Given the description of an element on the screen output the (x, y) to click on. 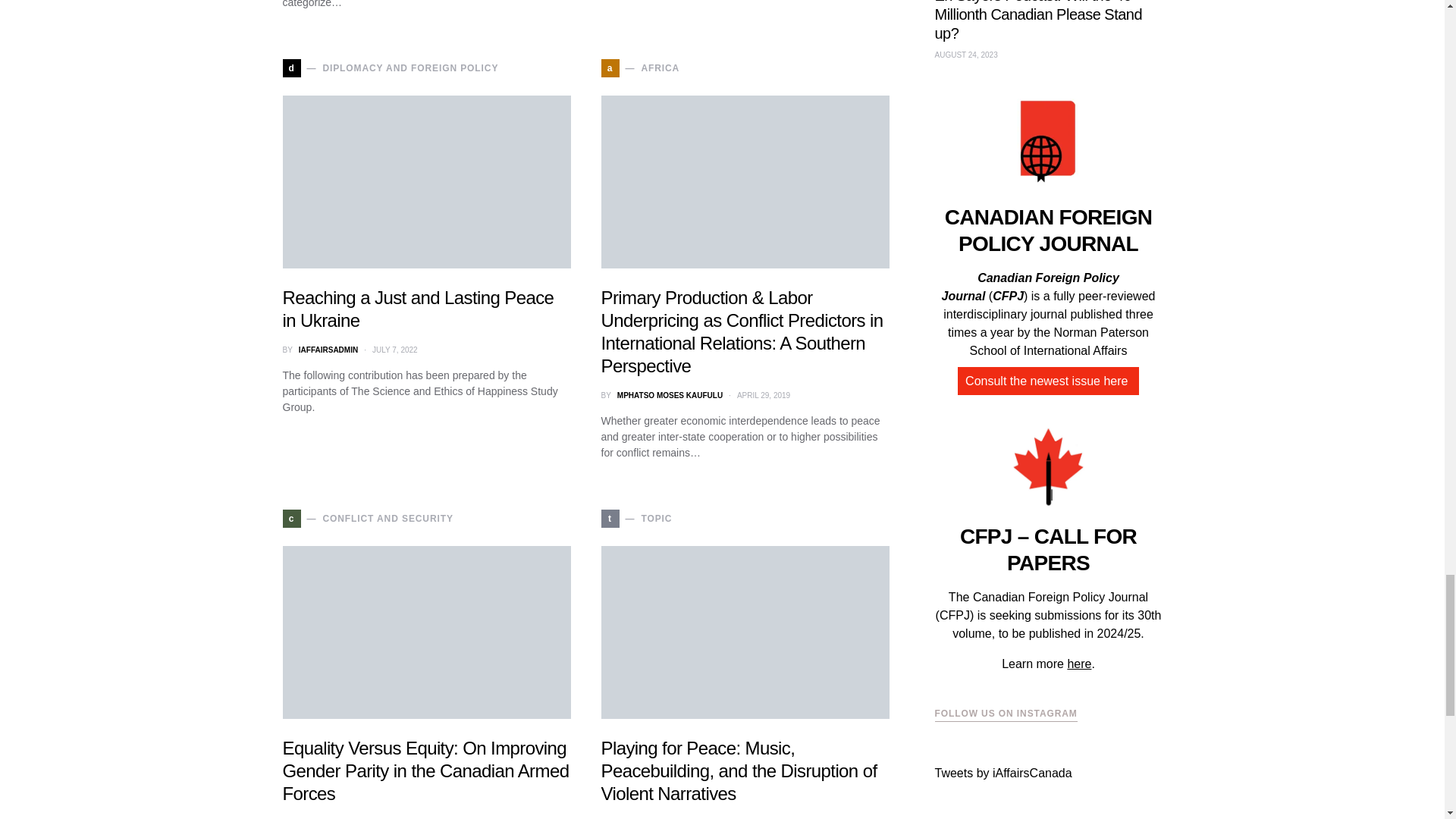
View all posts by Kiran Heble (642, 818)
View all posts by iAffairsAdmin (328, 349)
View all posts by Chloe Dizon (324, 818)
View all posts by Mphatso Moses Kaufulu (669, 395)
